Given the description of an element on the screen output the (x, y) to click on. 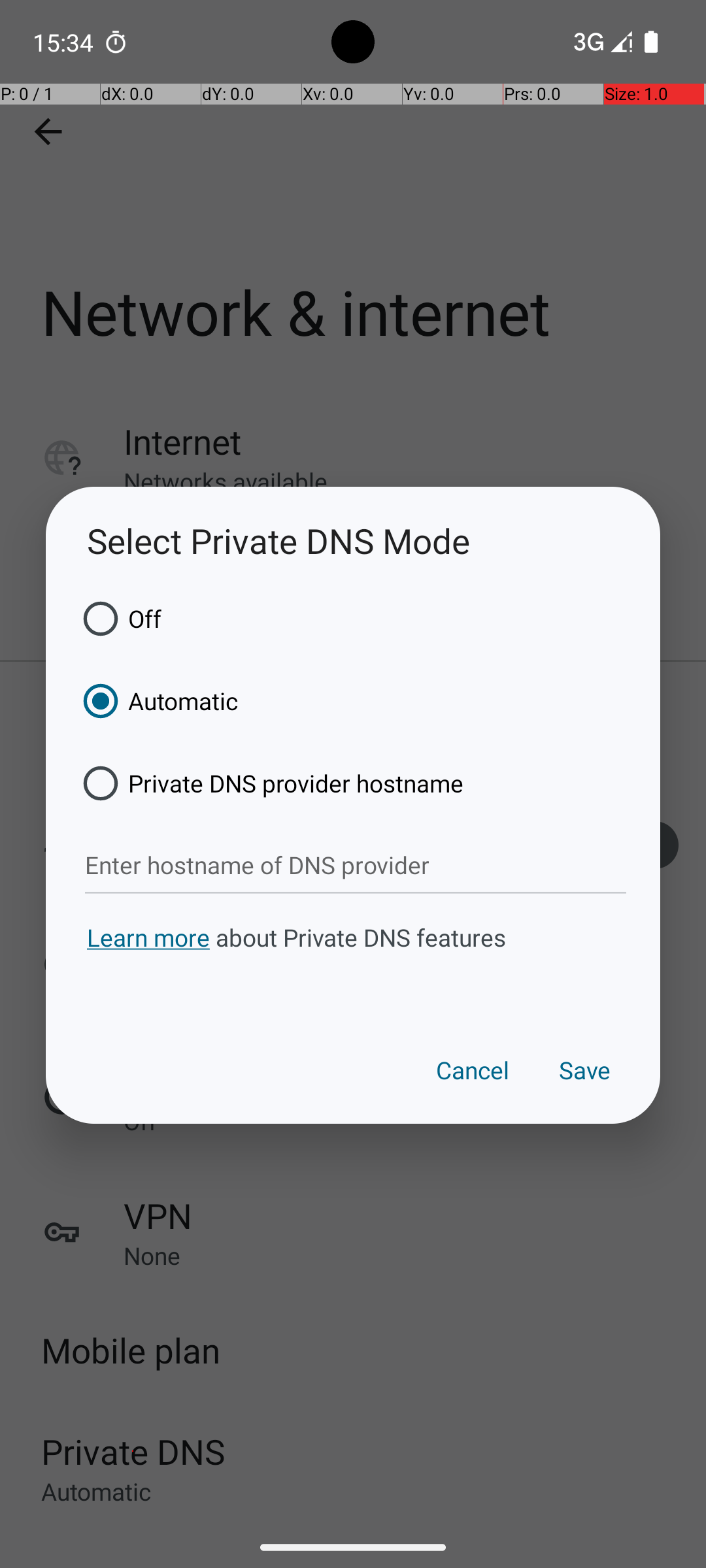
Select Private DNS Mode Element type: android.widget.TextView (352, 540)
Learn more about Private DNS features Element type: android.widget.TextView (352, 961)
Private DNS provider hostname Element type: android.widget.RadioButton (268, 783)
Enter hostname of DNS provider Element type: android.widget.EditText (355, 865)
